Given the description of an element on the screen output the (x, y) to click on. 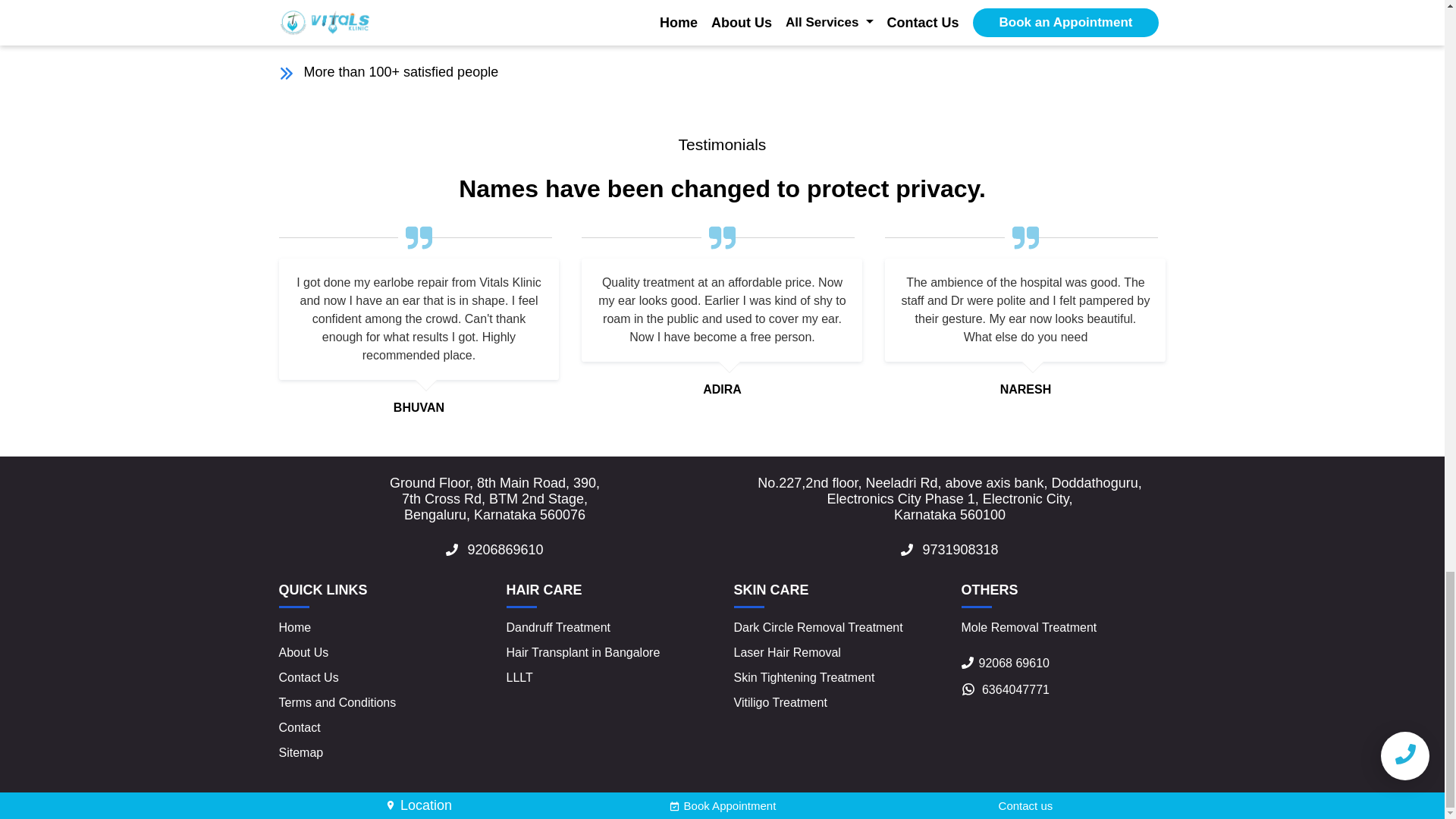
About Us (304, 652)
Home (295, 626)
9206869610 (494, 549)
9731908318 (949, 549)
